Given the description of an element on the screen output the (x, y) to click on. 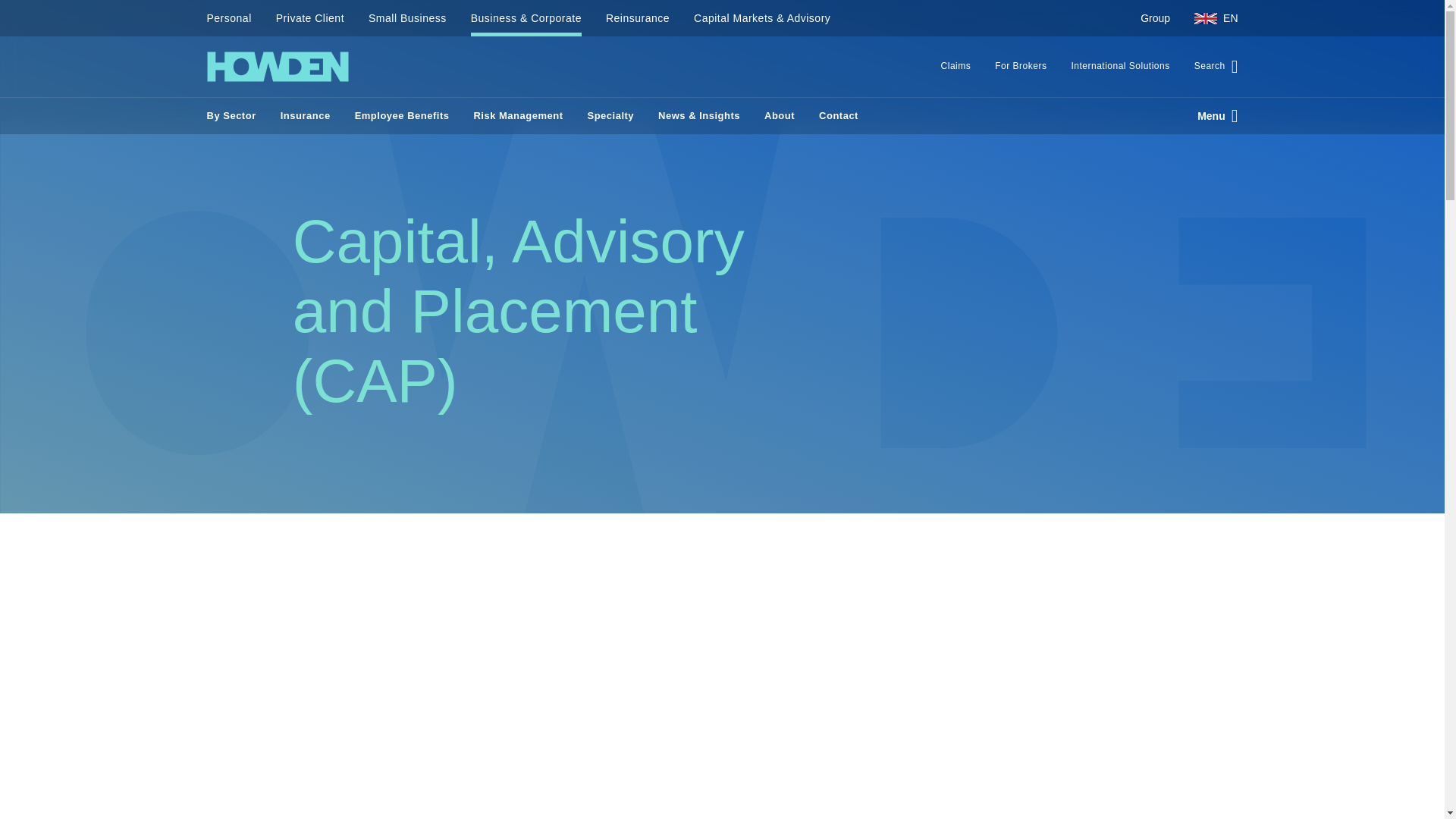
For Brokers (1020, 66)
International Solutions (1119, 66)
Reinsurance (637, 18)
Howden Broking Group (276, 66)
Personal (234, 18)
Claims (956, 66)
Menu (1211, 115)
Search (1210, 66)
EN (1209, 18)
Small Business (407, 18)
